Given the description of an element on the screen output the (x, y) to click on. 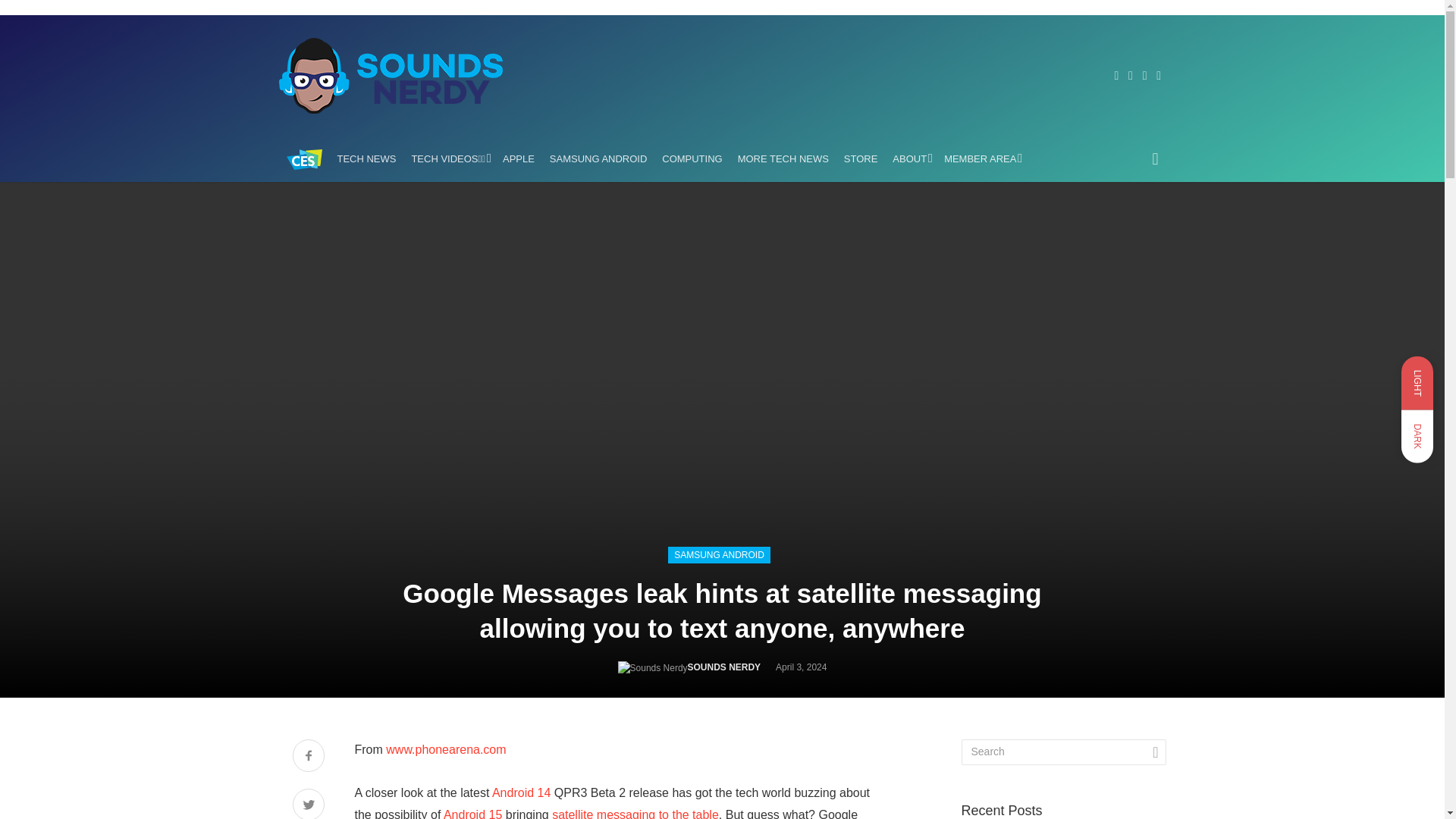
All Apple News (518, 158)
APPLE (518, 158)
TECH NEWS (366, 158)
COMPUTING (691, 158)
SAMSUNG ANDROID (597, 158)
